Given the description of an element on the screen output the (x, y) to click on. 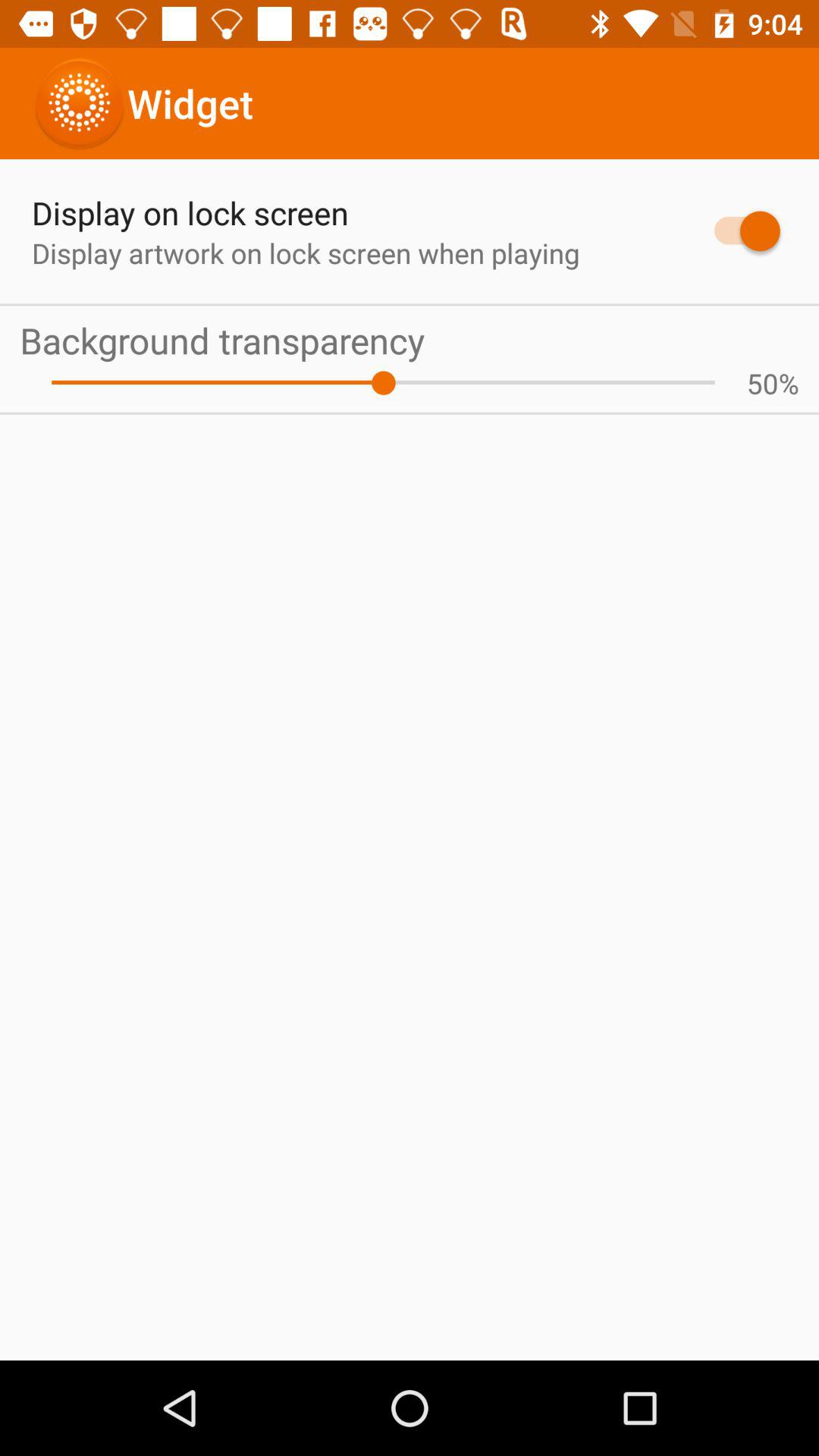
jump until the % icon (788, 383)
